Given the description of an element on the screen output the (x, y) to click on. 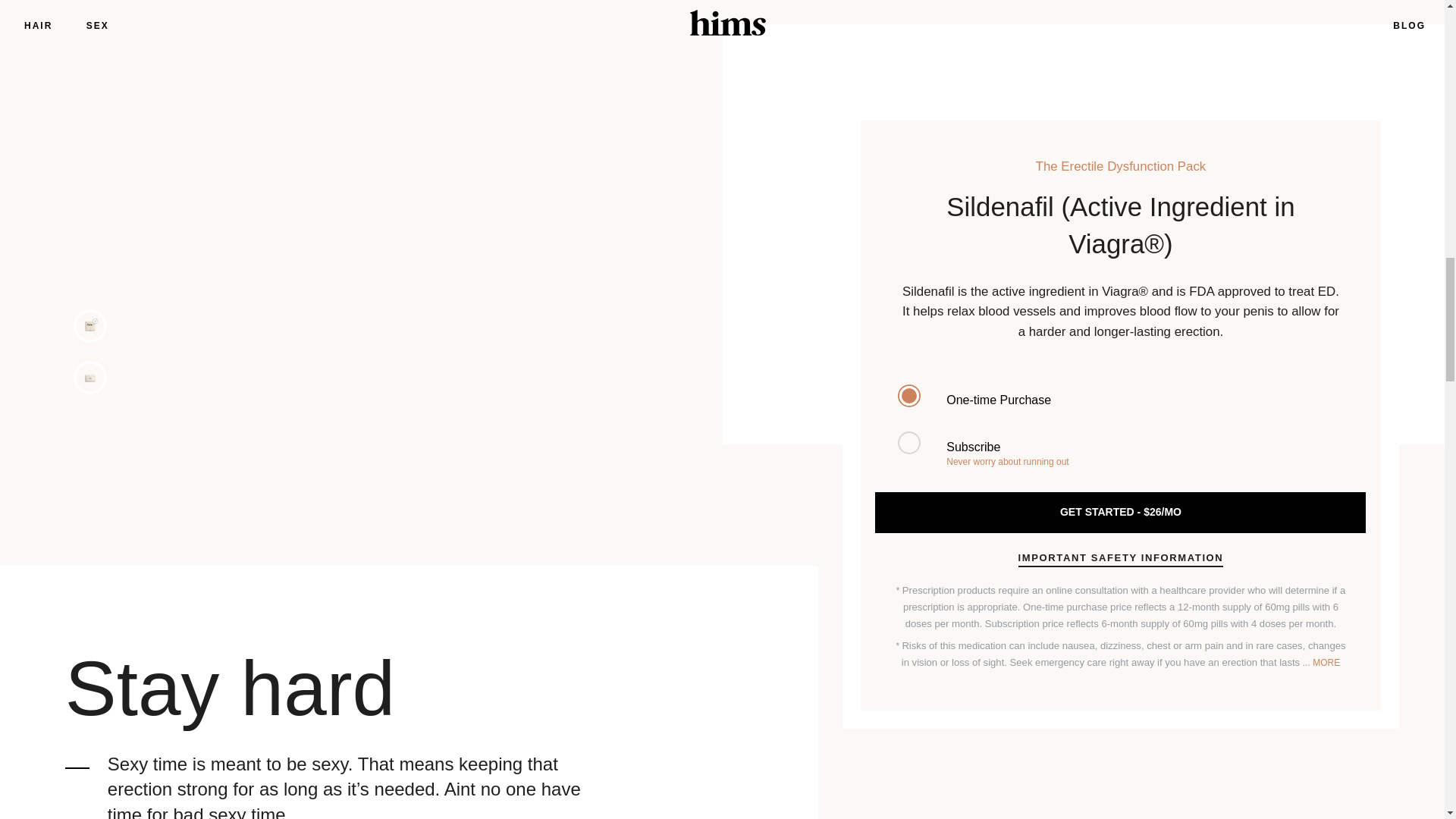
LEARN: WHAT TO EXPECT FROM TAKING SILDENAFIL (1050, 351)
